Given the description of an element on the screen output the (x, y) to click on. 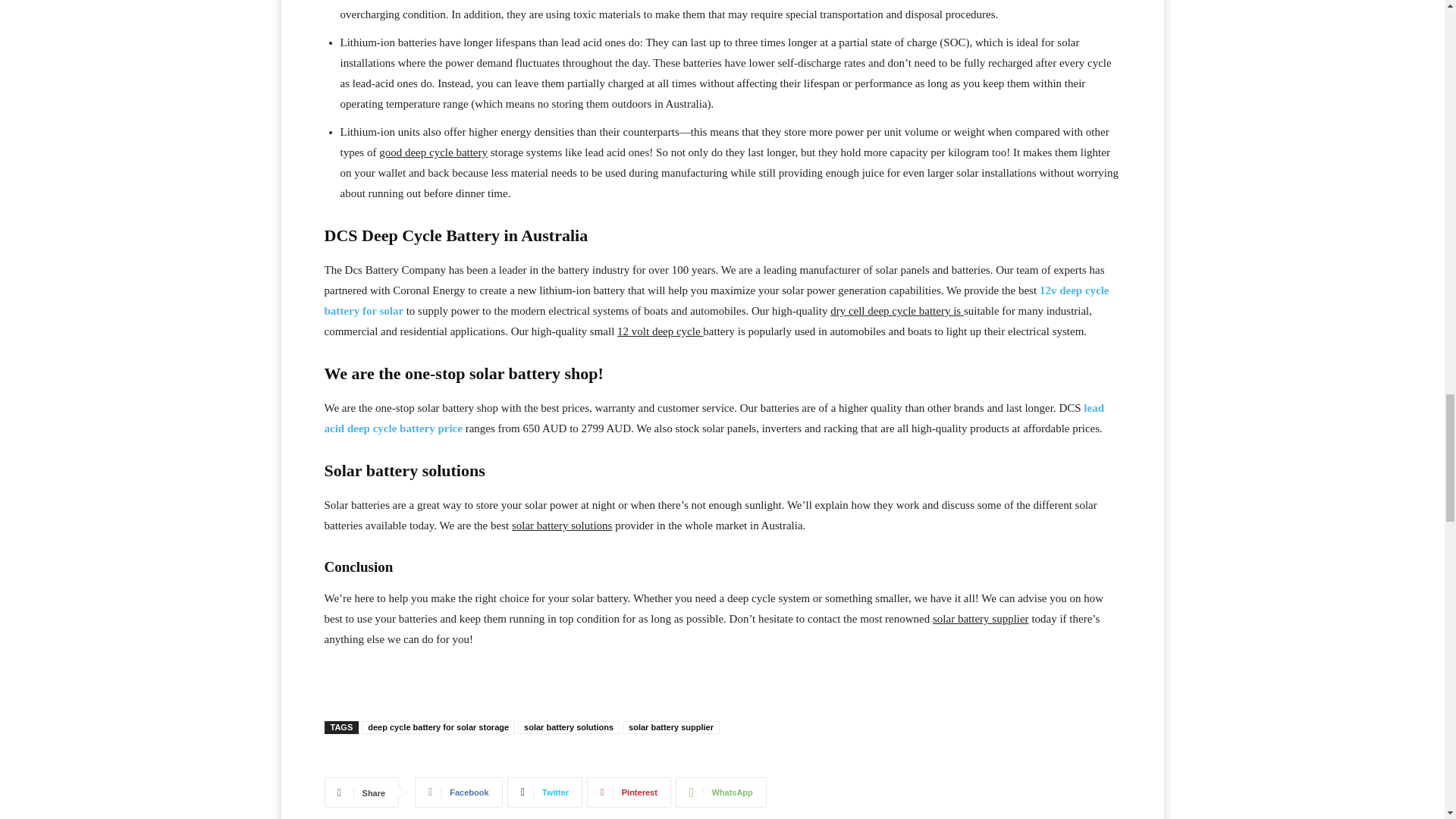
Pinterest (628, 792)
Facebook (458, 792)
Twitter (544, 792)
